Given the description of an element on the screen output the (x, y) to click on. 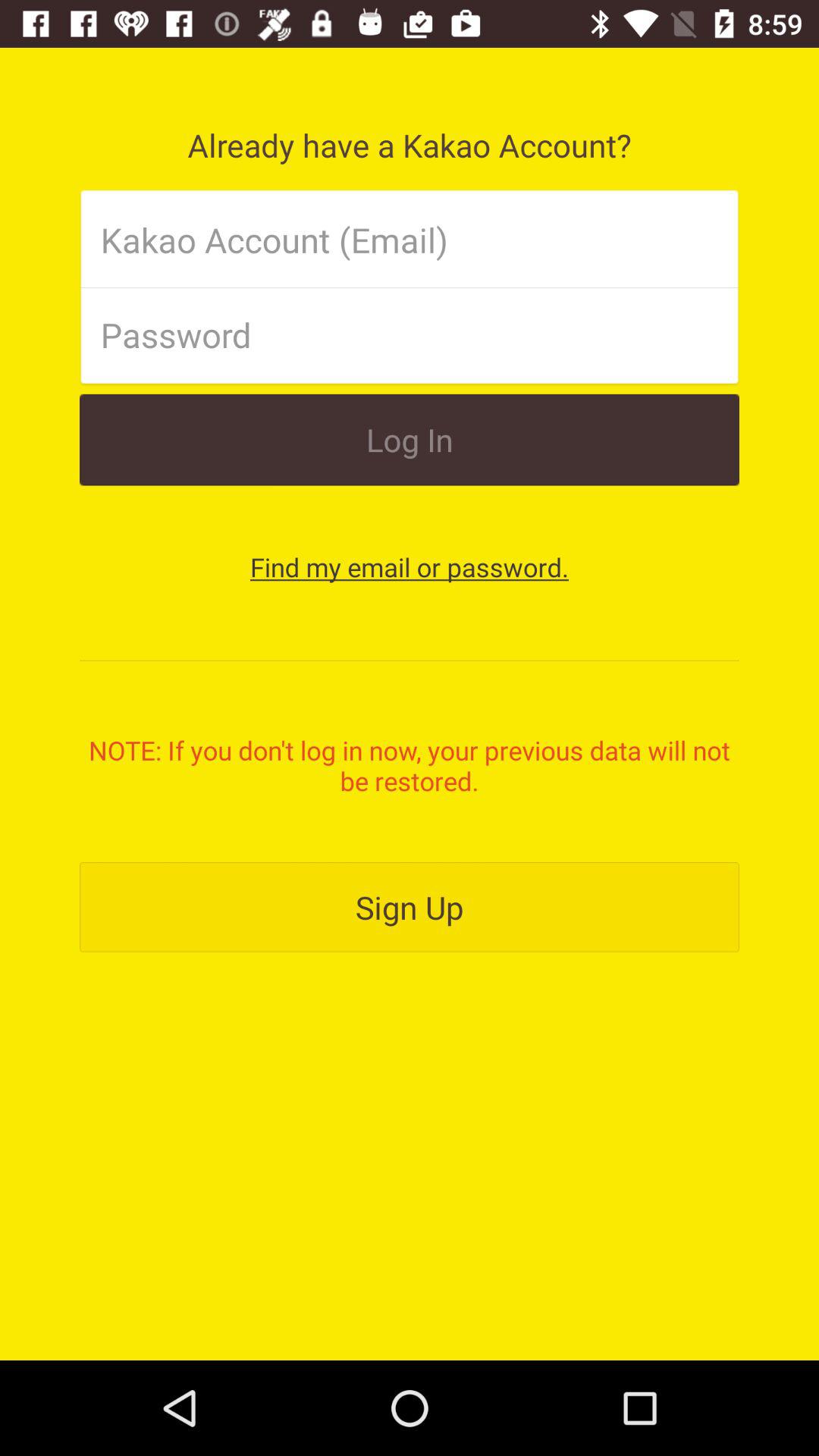
turn off icon above sign up item (409, 765)
